Given the description of an element on the screen output the (x, y) to click on. 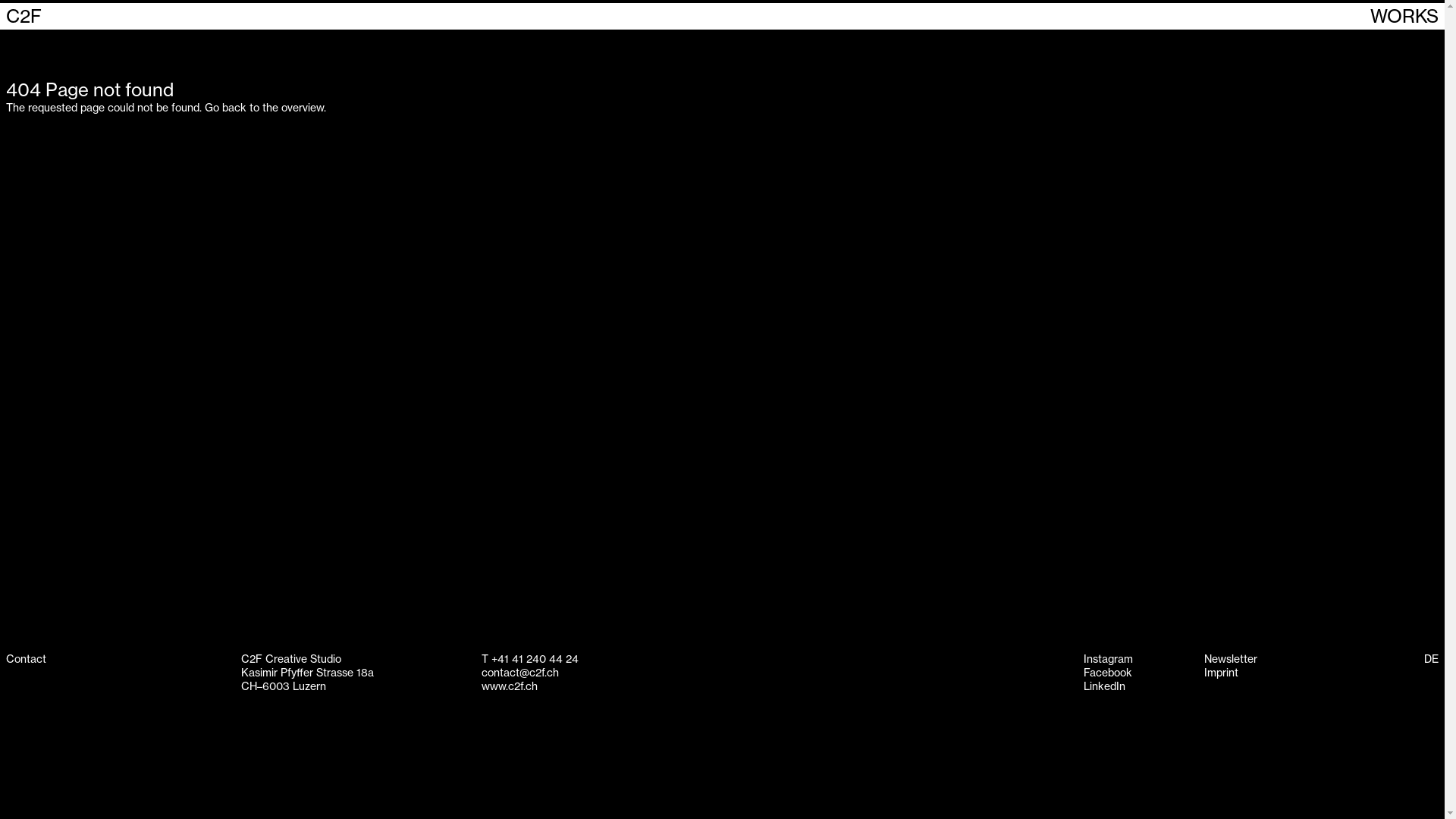
Imprint Element type: text (1221, 672)
Go back to the overview Element type: text (263, 107)
Instagram Element type: text (1107, 658)
Newsletter Element type: text (1230, 658)
DE Element type: text (1431, 658)
WORKS Element type: text (1404, 16)
C2F Element type: text (23, 16)
LinkedIn Element type: text (1104, 686)
Facebook Element type: text (1107, 672)
